Given the description of an element on the screen output the (x, y) to click on. 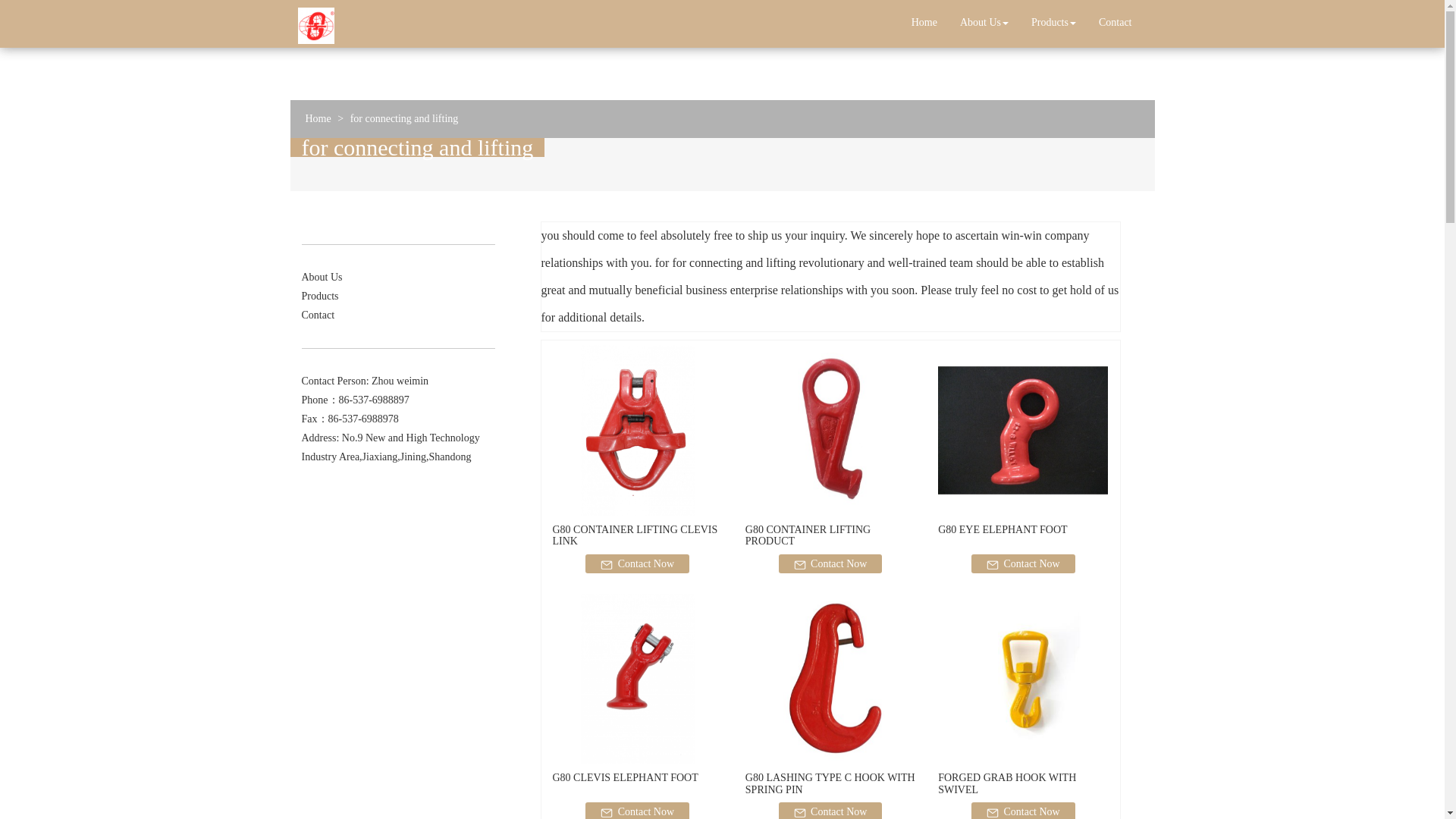
Products (320, 296)
Home (317, 118)
Home (924, 22)
for connecting and lifting (404, 118)
About Us (321, 276)
Products (1053, 22)
Contact (1114, 22)
About Us (984, 22)
